Given the description of an element on the screen output the (x, y) to click on. 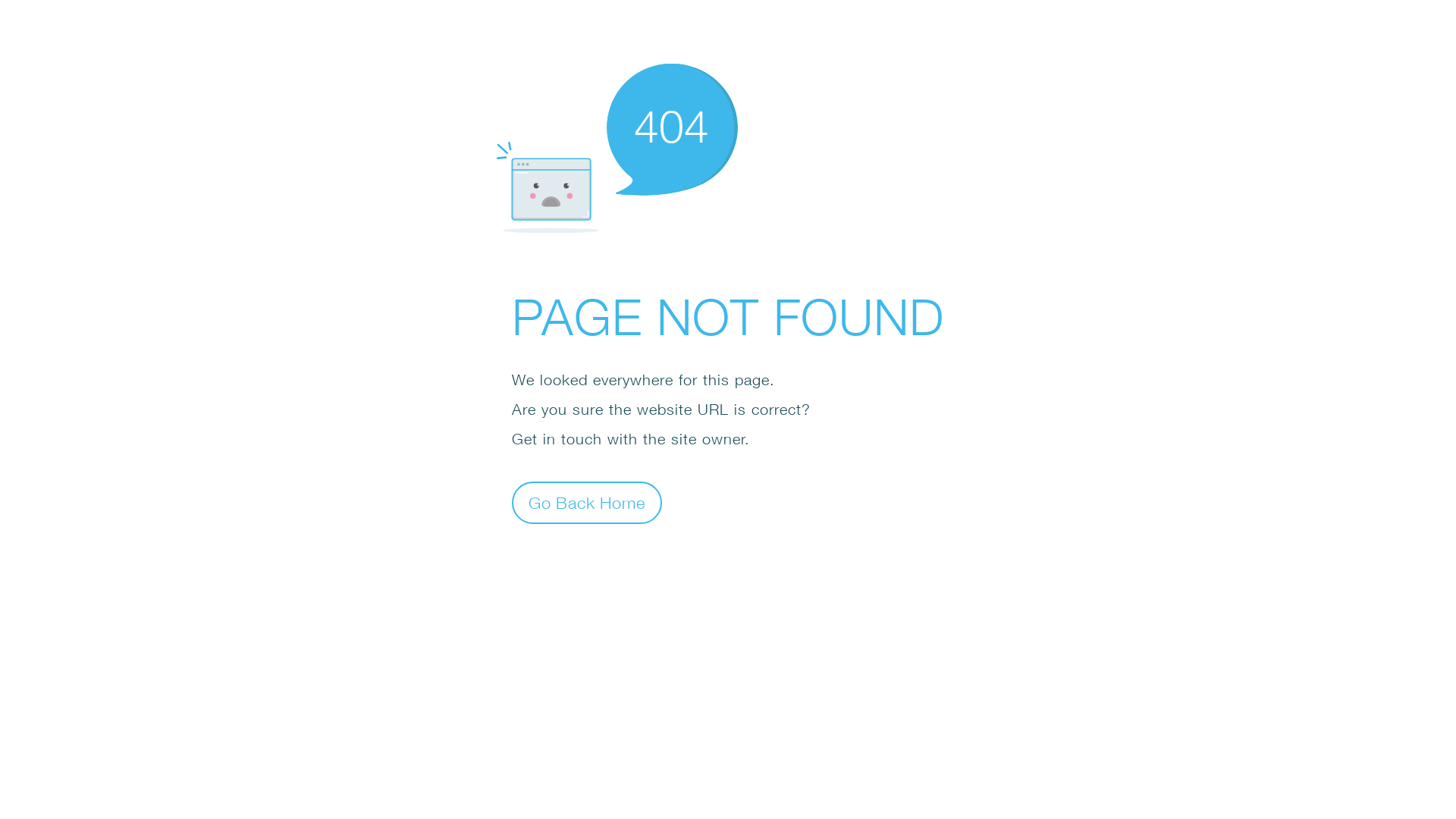
Go Back Home Element type: text (586, 502)
